Given the description of an element on the screen output the (x, y) to click on. 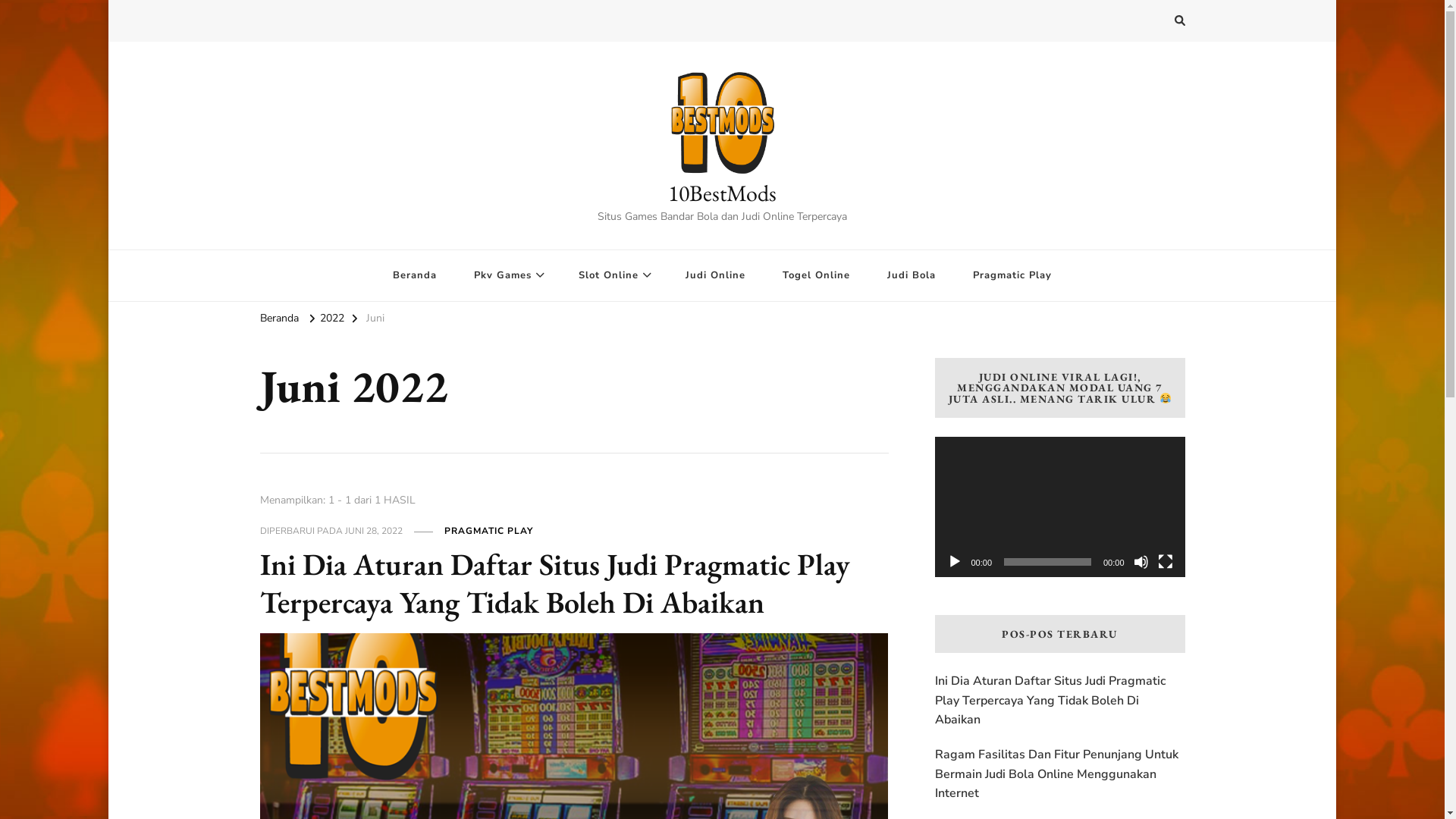
Beranda Element type: text (278, 319)
Cari Element type: text (1152, 22)
Bisu Element type: hover (1140, 561)
PRAGMATIC PLAY Element type: text (488, 531)
Pkv Games Element type: text (507, 275)
Selayar penuh Element type: hover (1164, 561)
Togel Online Element type: text (815, 275)
JUNI 28, 2022 Element type: text (373, 531)
Judi Online Element type: text (715, 275)
Pragmatic Play Element type: text (1012, 275)
2022 Element type: text (332, 319)
10BestMods Element type: text (722, 192)
Juni Element type: text (374, 319)
Slot Online Element type: text (613, 275)
Judi Bola Element type: text (911, 275)
Beranda Element type: text (414, 275)
Putar Element type: hover (953, 561)
